Given the description of an element on the screen output the (x, y) to click on. 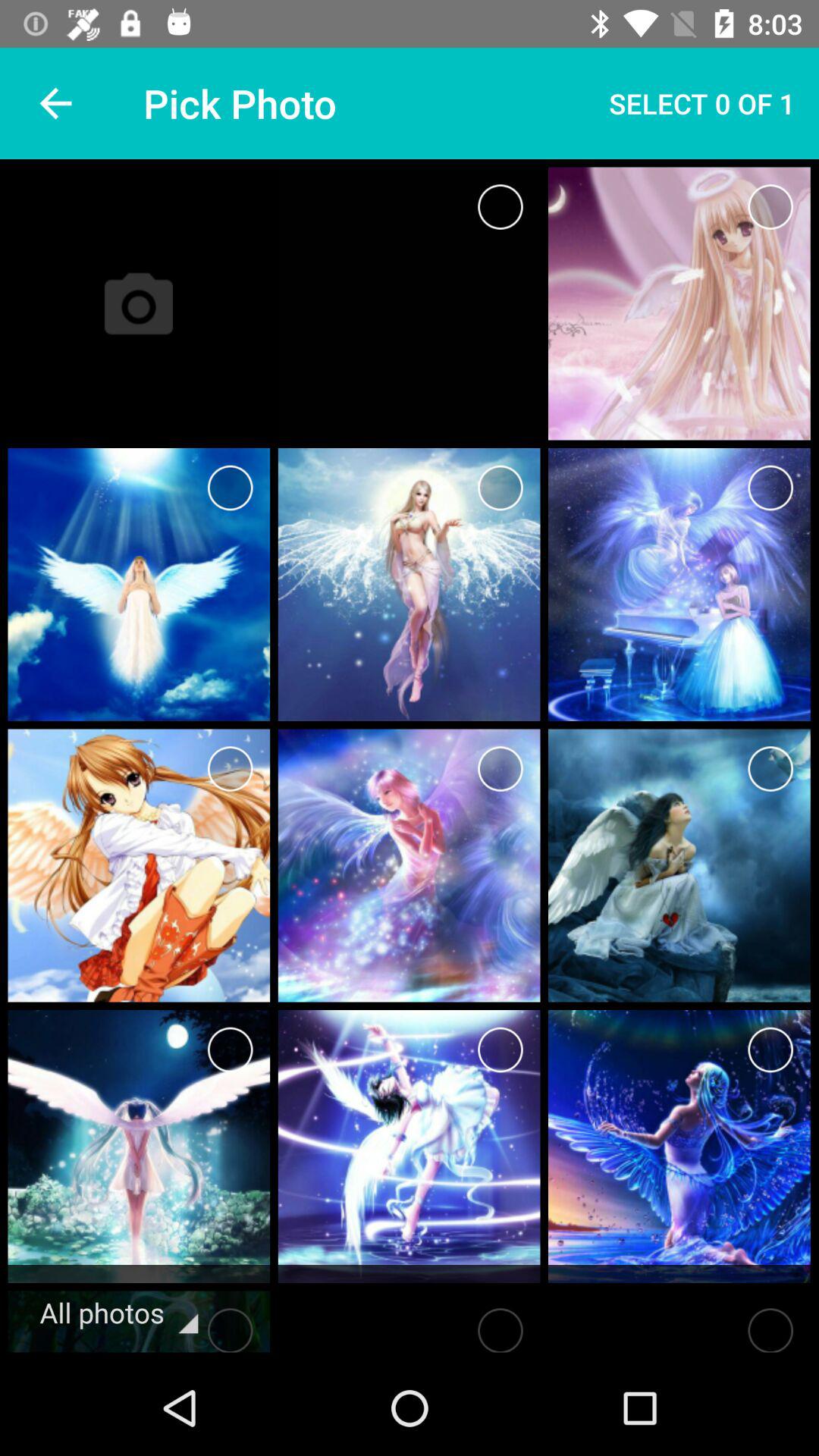
select photo album (500, 206)
